Given the description of an element on the screen output the (x, y) to click on. 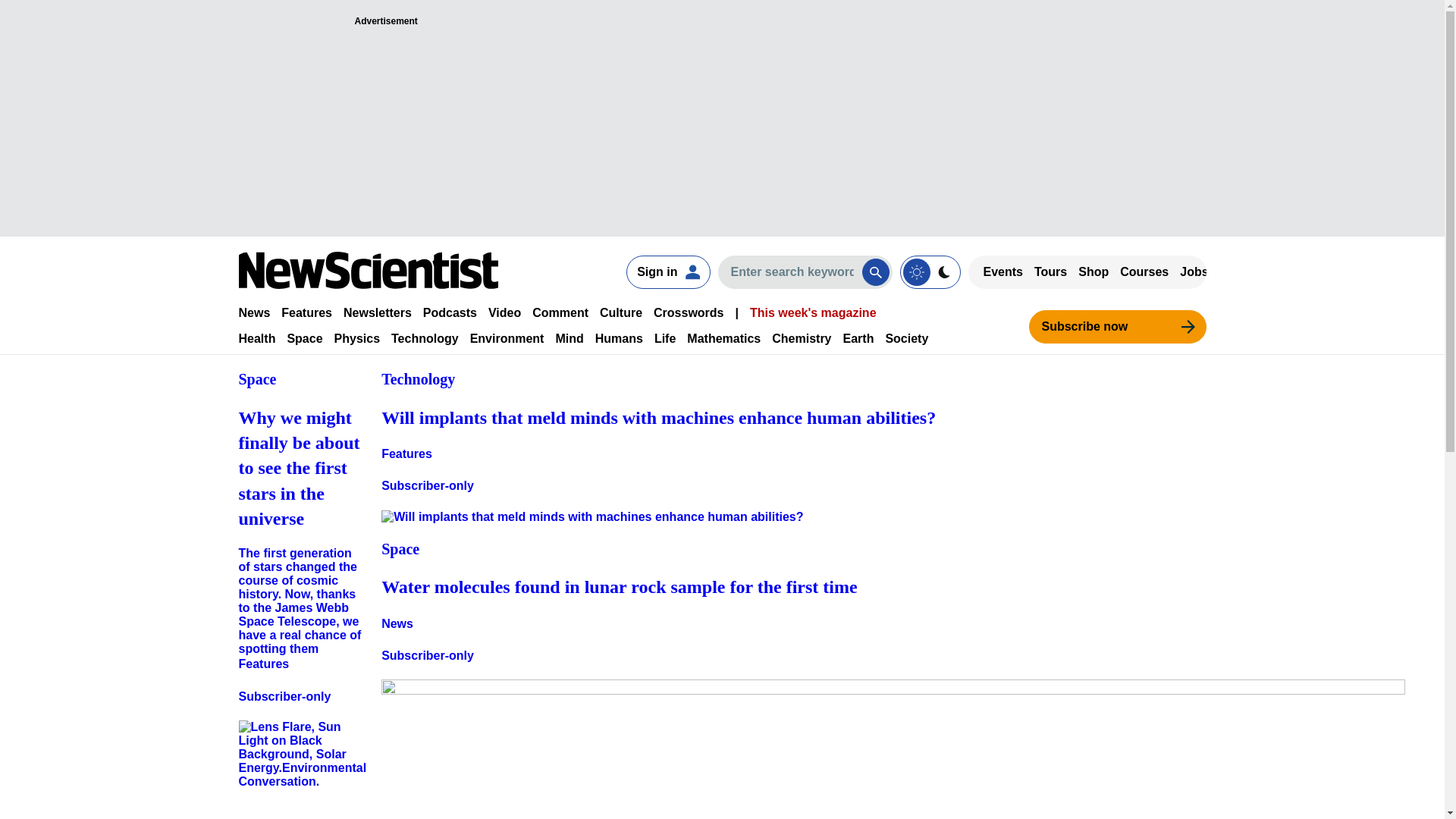
Space (303, 338)
Tours (1050, 272)
Jobs (1193, 272)
Events (1002, 272)
Shop (1093, 272)
Health (256, 338)
Culture (620, 313)
Earth (859, 338)
Technology (424, 338)
Link to the homepage (367, 270)
Physics (357, 338)
This week's magazine (812, 313)
Features (306, 313)
Chemistry (801, 338)
Mind (568, 338)
